Given the description of an element on the screen output the (x, y) to click on. 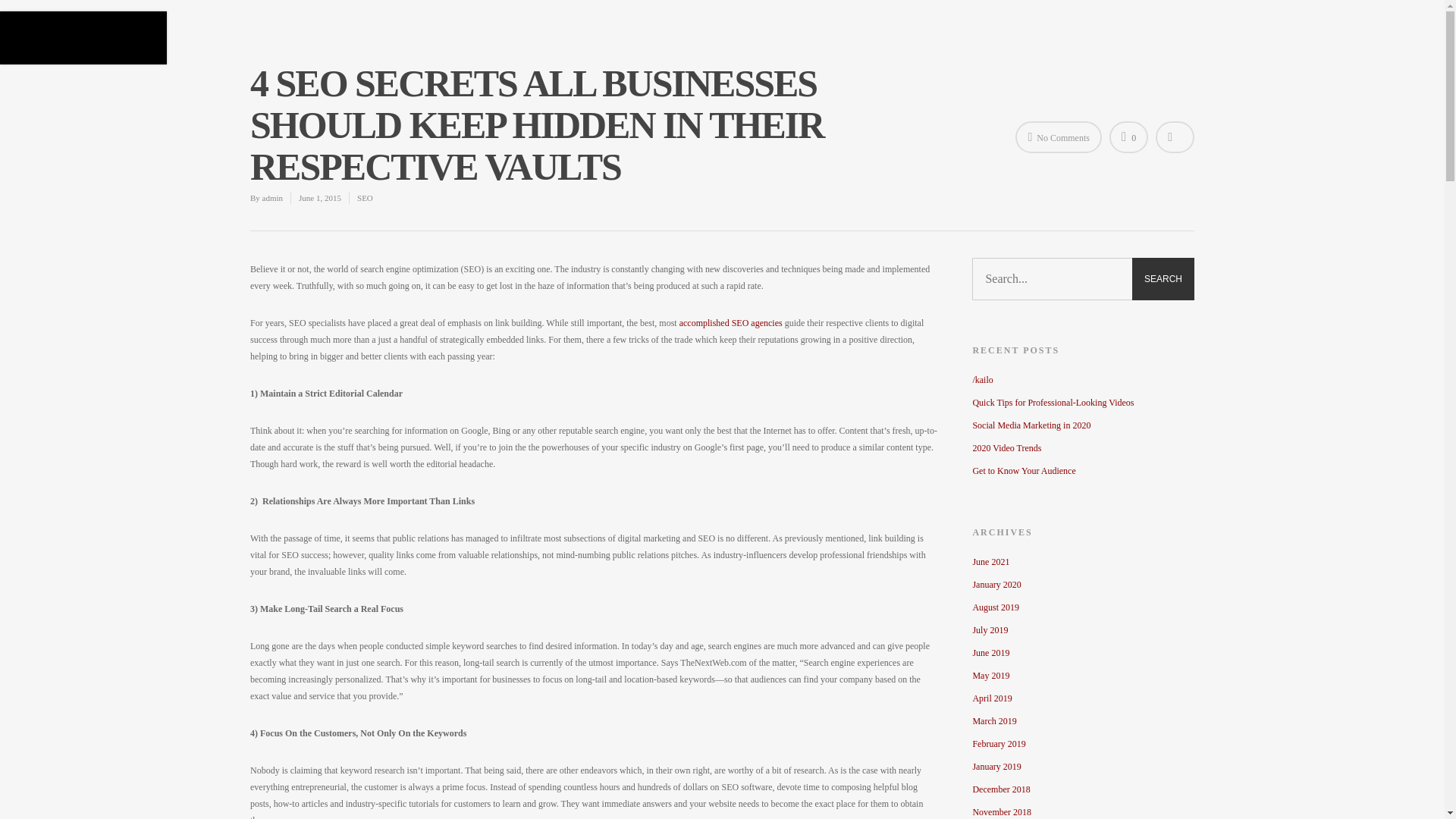
March 2019 (1082, 720)
July 2019 (1082, 629)
August 2019 (1082, 606)
Search (1162, 278)
May 2019 (1082, 675)
Quick Tips for Professional-Looking Videos (1082, 402)
accomplished SEO agencies (731, 322)
2020 Video Trends (1082, 447)
Search for: (1082, 278)
Love this (1128, 137)
Posts by admin (272, 197)
Search (1162, 278)
January 2020 (1082, 584)
Get to Know Your Audience (1082, 470)
February 2019 (1082, 743)
